Given the description of an element on the screen output the (x, y) to click on. 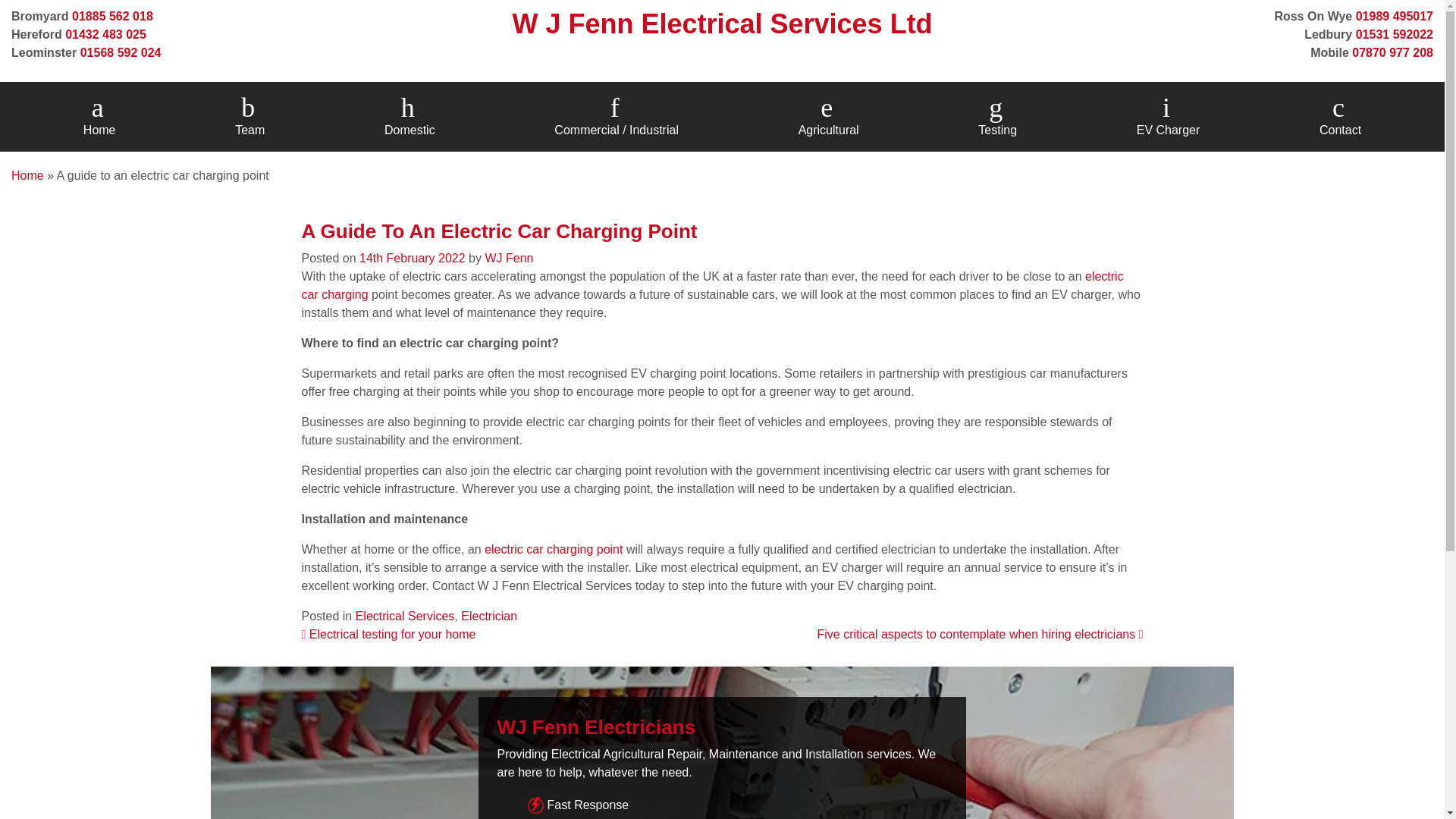
01568 592 024 (120, 51)
W J Fenn Electrical Services Ltd (721, 23)
 Electrical testing for your home (388, 634)
Home (27, 174)
 Domestic (409, 116)
EV Charger (1169, 116)
 Agricultural (828, 116)
 EV Charger (1169, 116)
07870 977 208 (1392, 51)
Contact (1340, 116)
